Given the description of an element on the screen output the (x, y) to click on. 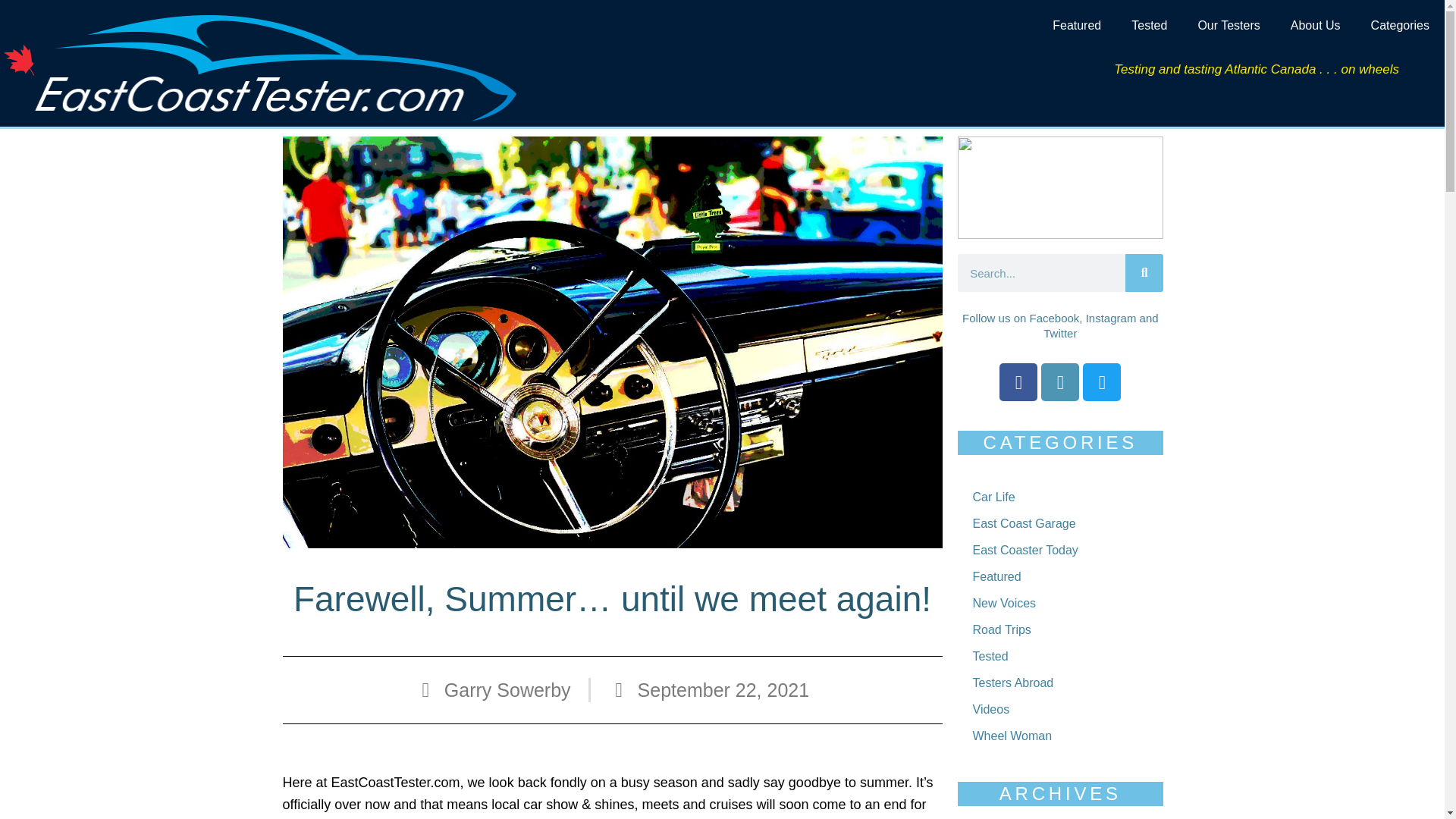
Featured (1076, 25)
Our Testers (1228, 25)
About Us (1315, 25)
Tested (1149, 25)
